Given the description of an element on the screen output the (x, y) to click on. 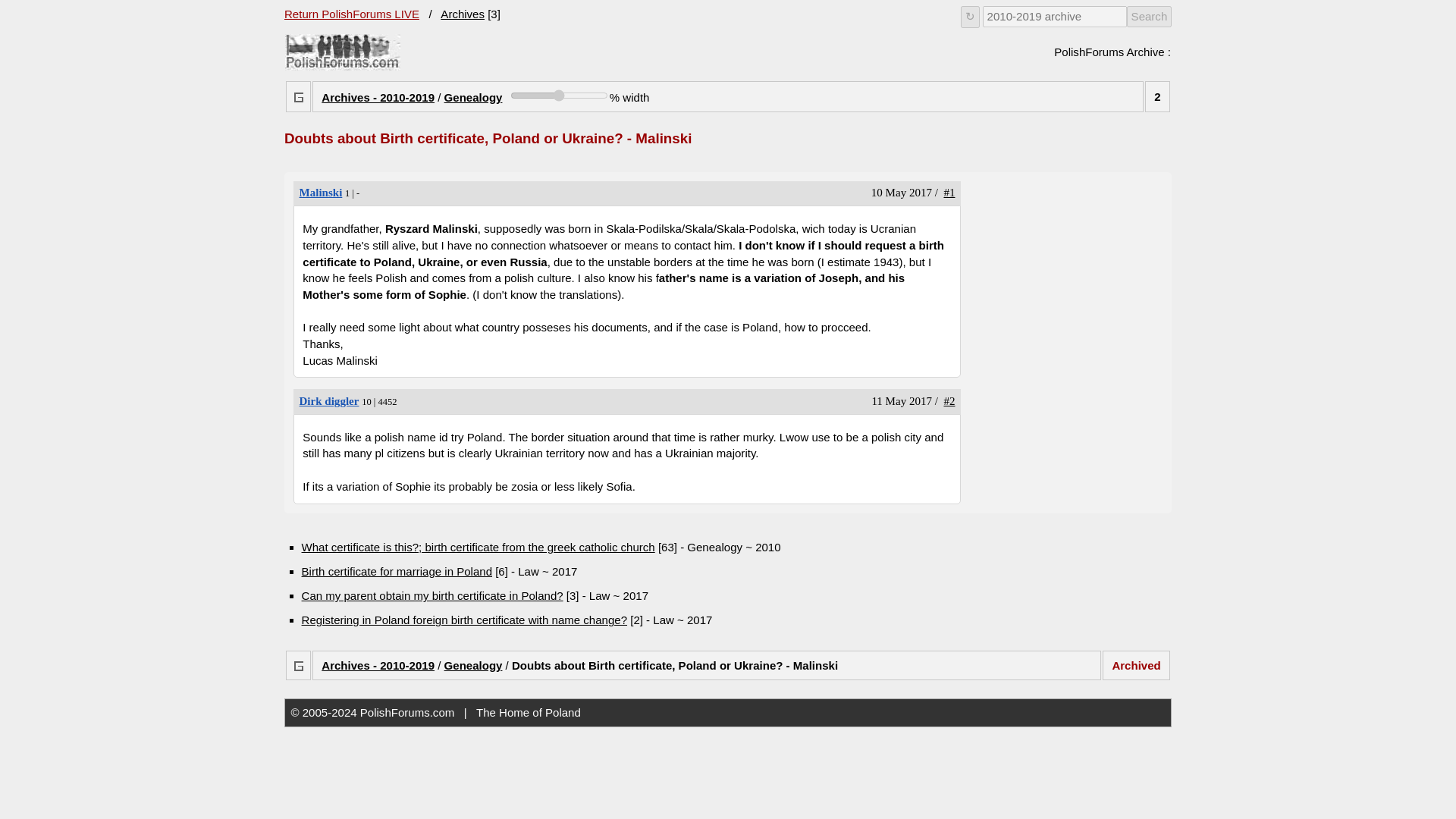
Archives - 2010-2019 (329, 400)
Archives (342, 52)
Return PolishForums LIVE (462, 13)
Genealogy (351, 13)
Genealogy (473, 97)
60 (473, 665)
Archives - 2010-2019 (559, 95)
Birth certificate for marriage in Poland (377, 665)
Archives - 2010-2019 (396, 571)
Can my parent obtain my birth certificate in Poland? (320, 192)
Dirk diggler (377, 97)
